Given the description of an element on the screen output the (x, y) to click on. 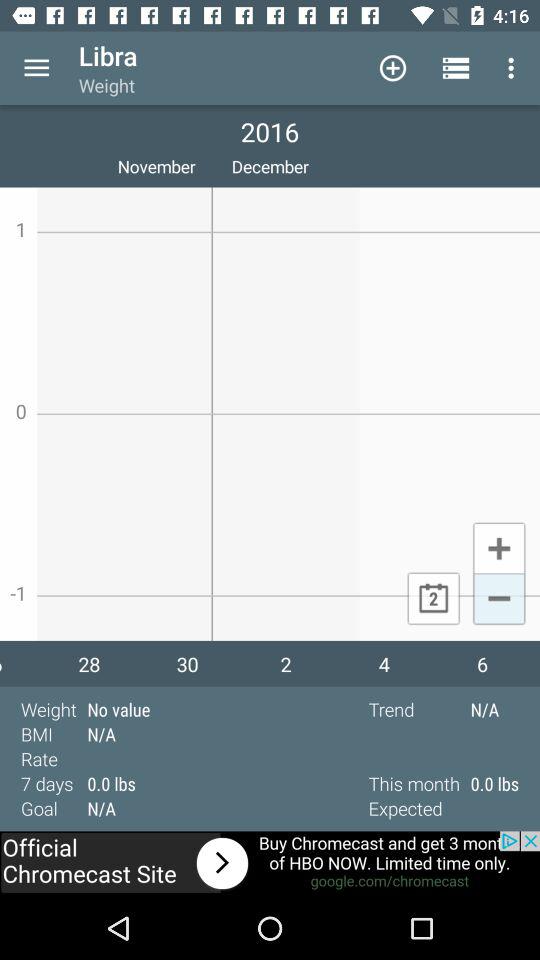
get menu options (36, 68)
